Given the description of an element on the screen output the (x, y) to click on. 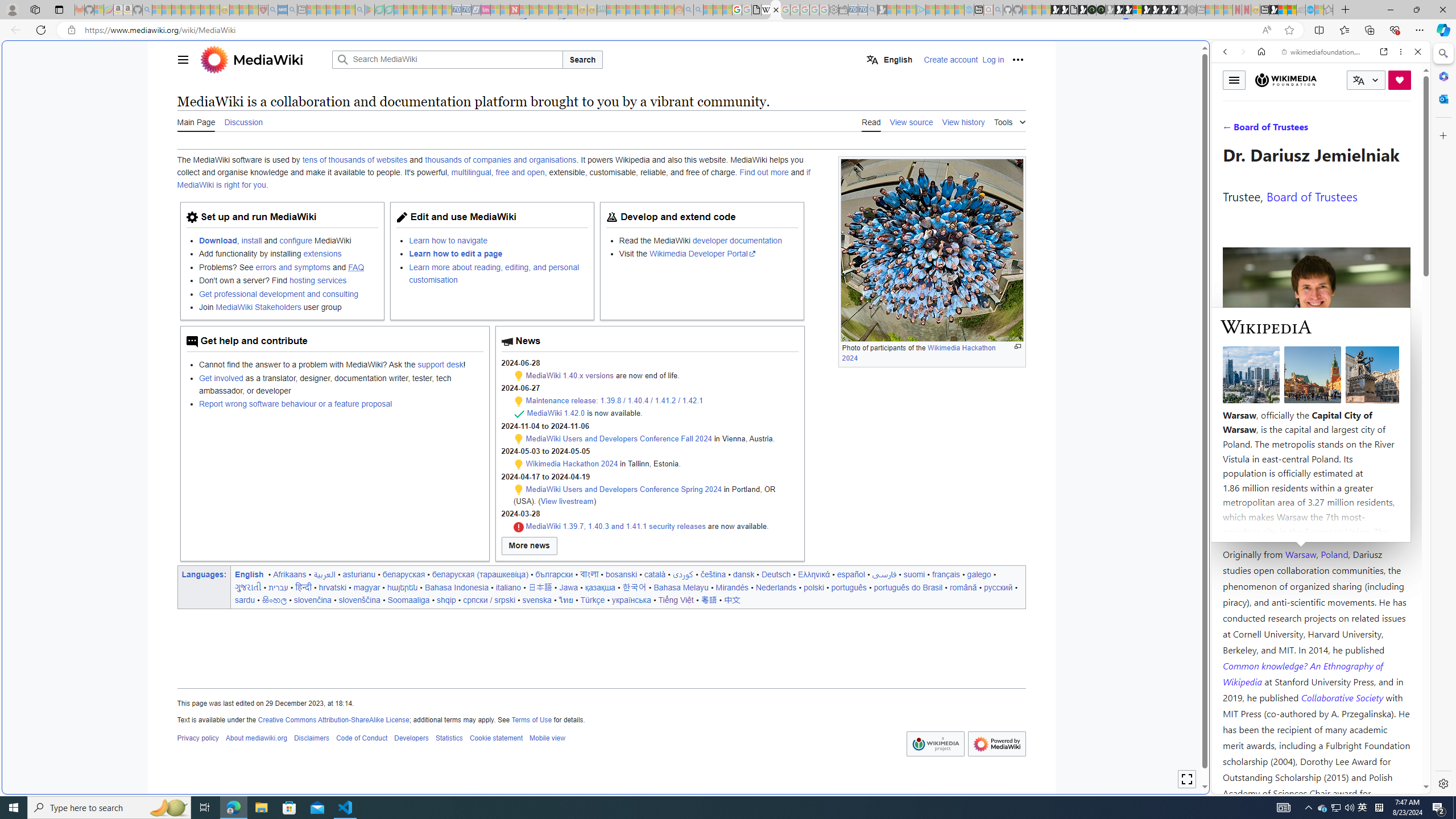
magyar (366, 587)
dansk (743, 574)
Privacy policy (197, 738)
MediaWiki 1.42.0 (556, 412)
Create account (950, 58)
MediaWiki Stakeholders (258, 307)
